Given the description of an element on the screen output the (x, y) to click on. 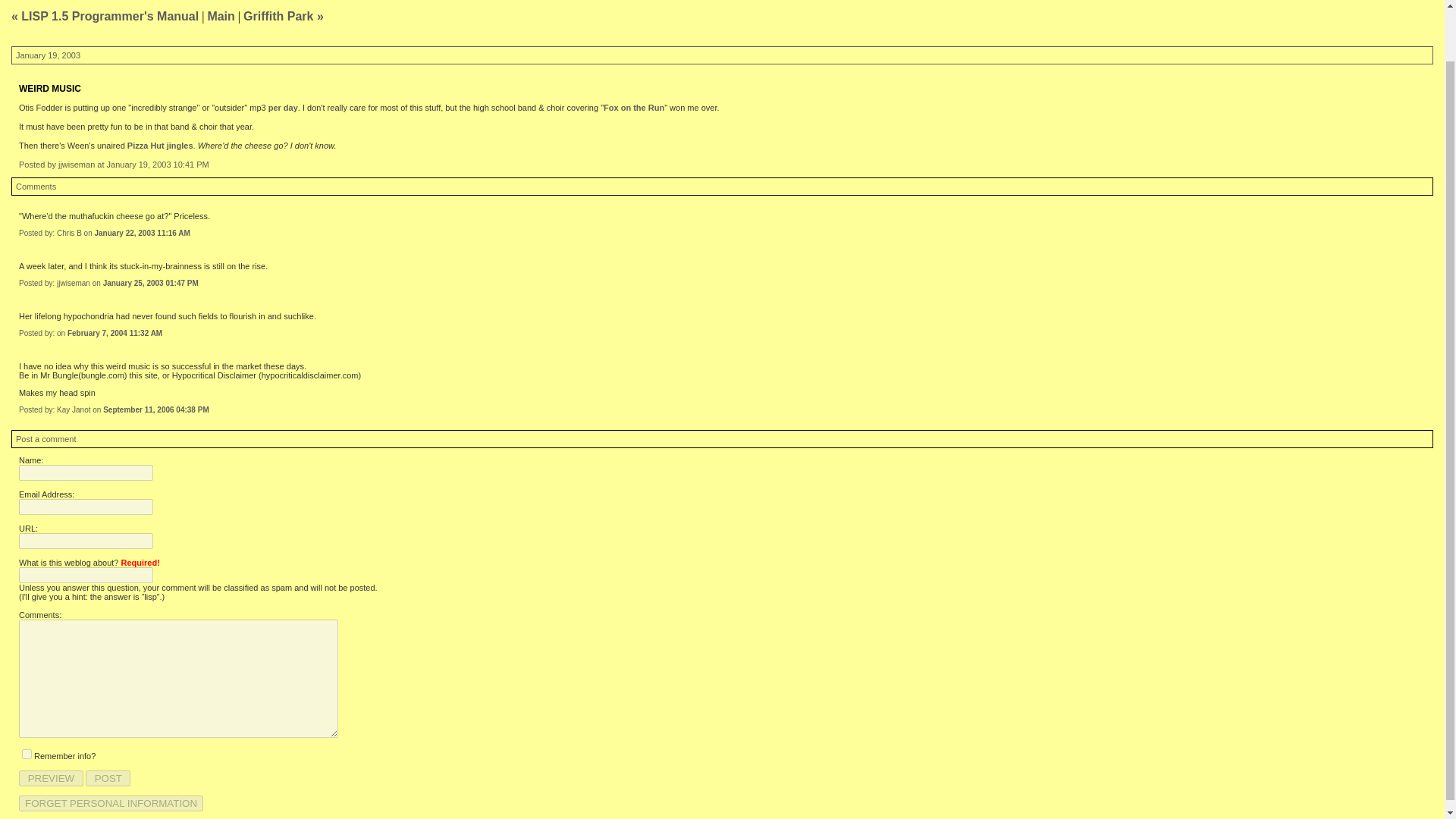
per day (282, 107)
September 11, 2006 04:38 PM (156, 409)
January 22, 2003 11:16 AM (141, 233)
FORGET PERSONAL INFORMATION (110, 803)
Fox on the Run (633, 107)
Pizza Hut jingles (160, 144)
on (26, 754)
January 25, 2003 01:47 PM (150, 283)
